Given the description of an element on the screen output the (x, y) to click on. 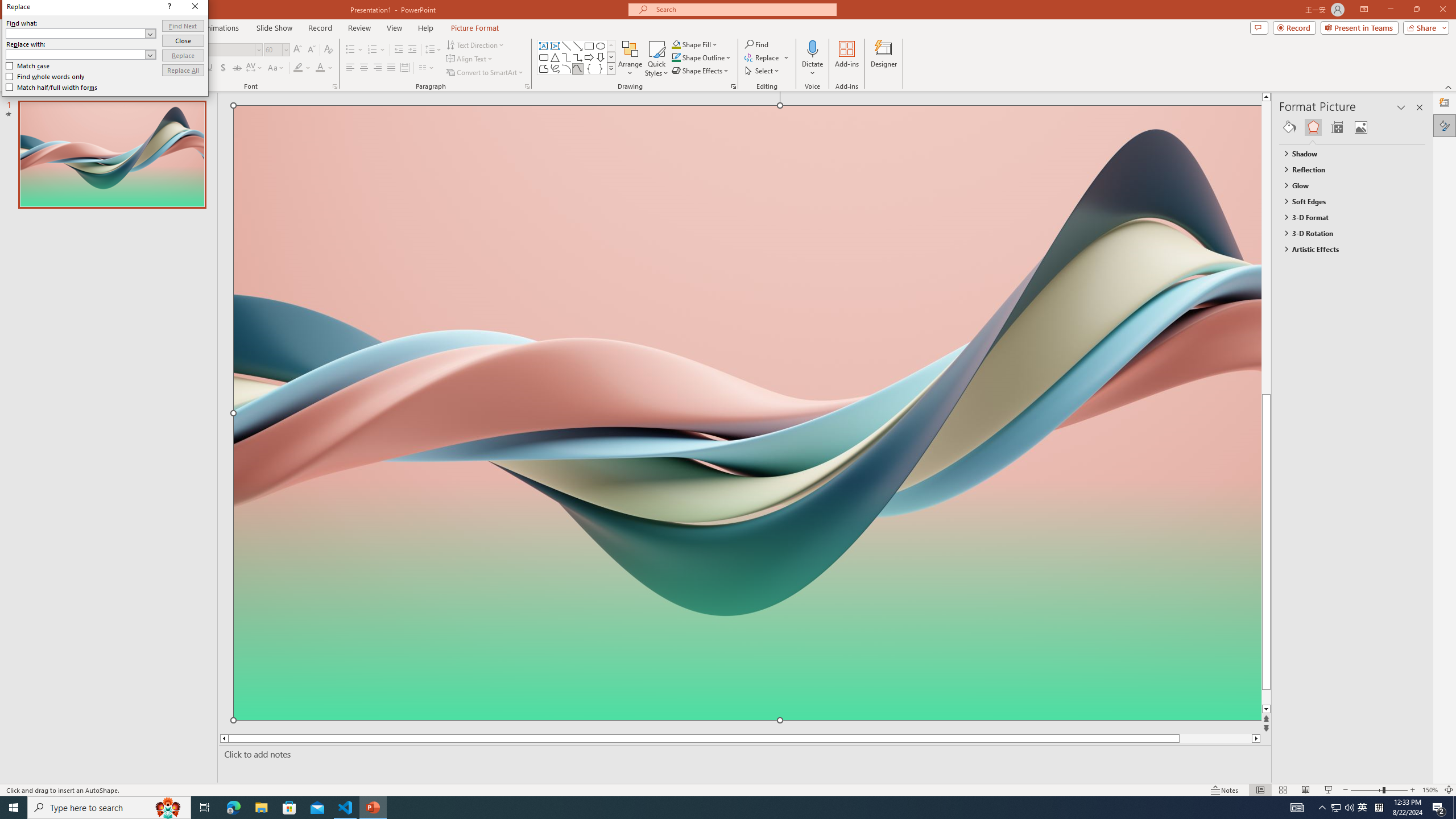
Match half/full width forms (52, 86)
Zoom 150% (1430, 790)
Match case (27, 65)
